Given the description of an element on the screen output the (x, y) to click on. 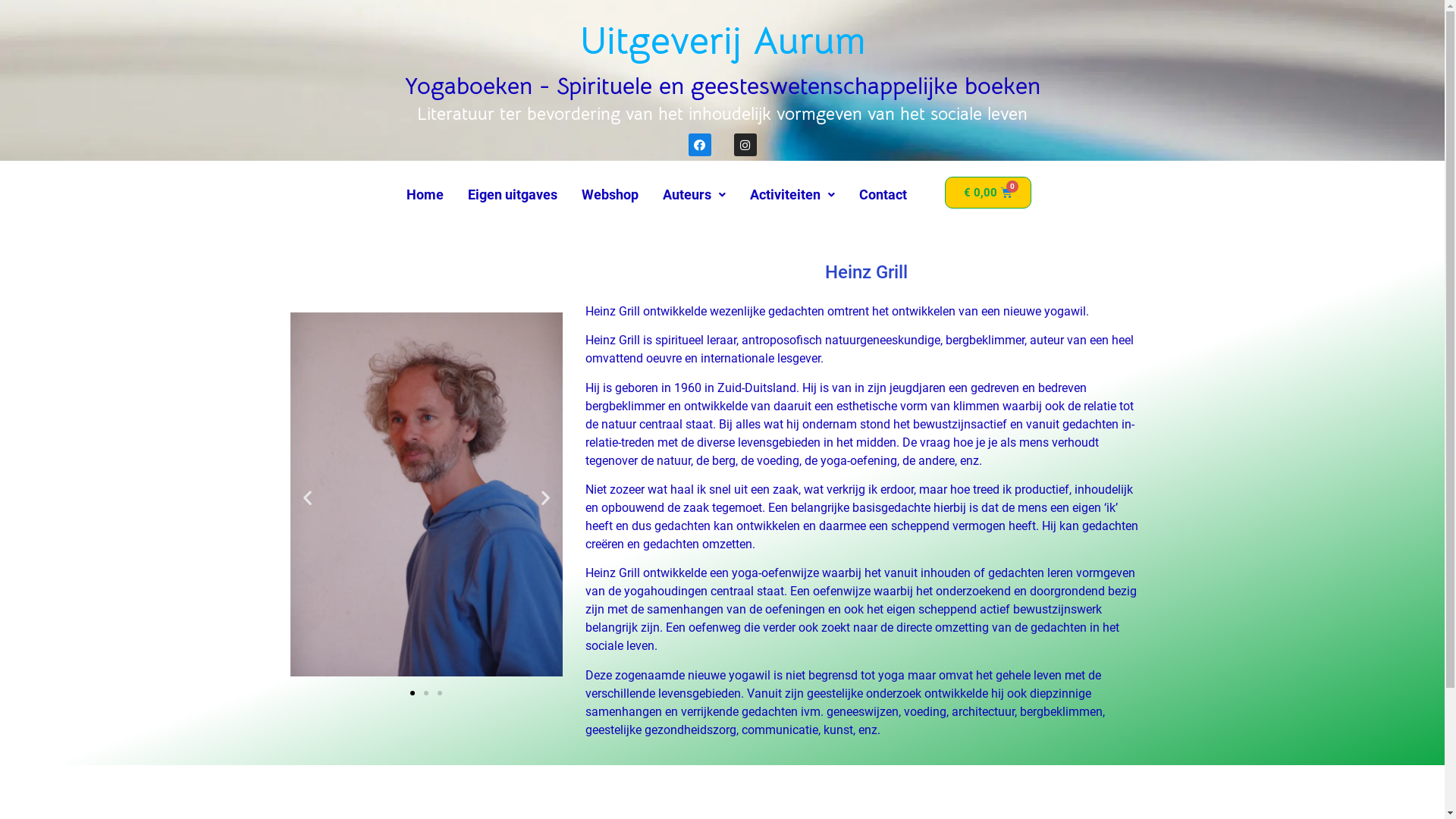
Auteurs Element type: text (693, 194)
Home Element type: text (424, 194)
Webshop Element type: text (609, 194)
Contact Element type: text (883, 194)
Activiteiten Element type: text (792, 194)
Eigen uitgaves Element type: text (512, 194)
